Given the description of an element on the screen output the (x, y) to click on. 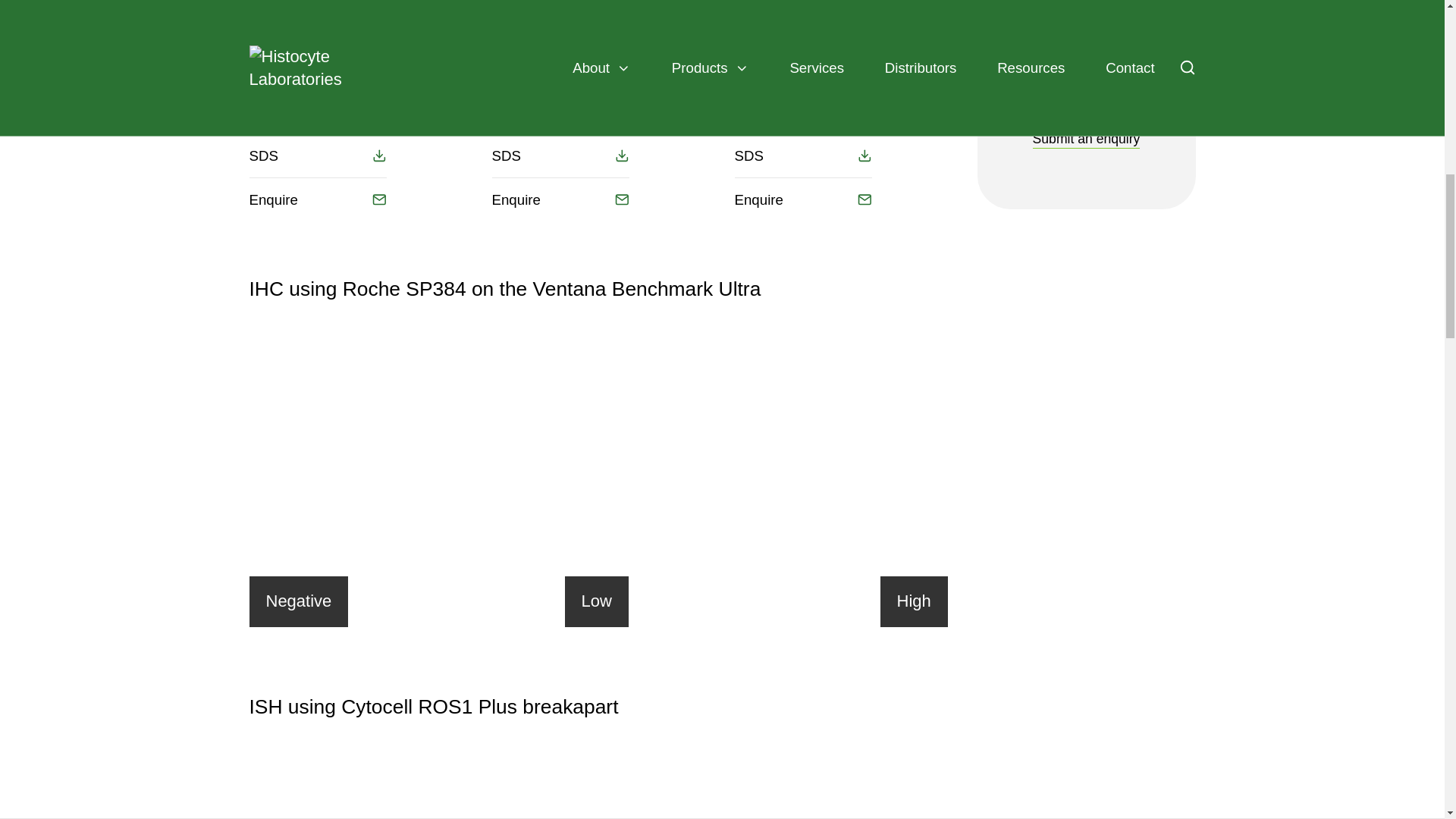
SDS (801, 155)
Datasheet (560, 67)
Enquire (560, 199)
Brochure (560, 111)
SDS (316, 155)
Brochure (801, 111)
SDS (560, 155)
Datasheet (316, 67)
Enquire (801, 199)
Brochure (316, 111)
